Given the description of an element on the screen output the (x, y) to click on. 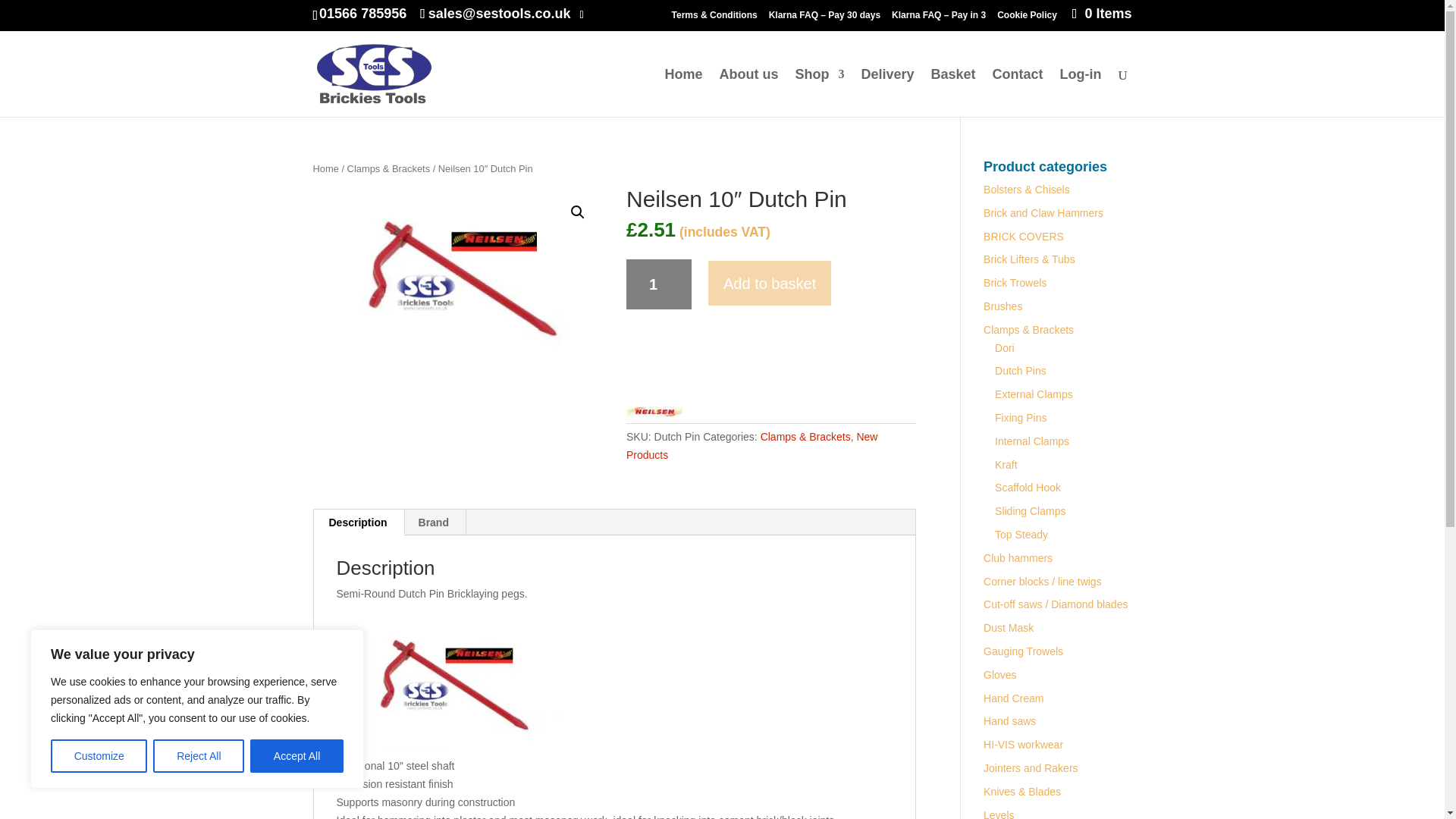
Neilsen 10" Dutch Pin (457, 275)
Shop (819, 91)
0 Items (1100, 13)
Customize (98, 756)
Accept All (296, 756)
Reject All (198, 756)
About us (748, 91)
PayPal Message 1 (770, 341)
Neilsen (654, 413)
1 (658, 284)
Cookie Policy (1027, 18)
PayPal (770, 376)
